Given the description of an element on the screen output the (x, y) to click on. 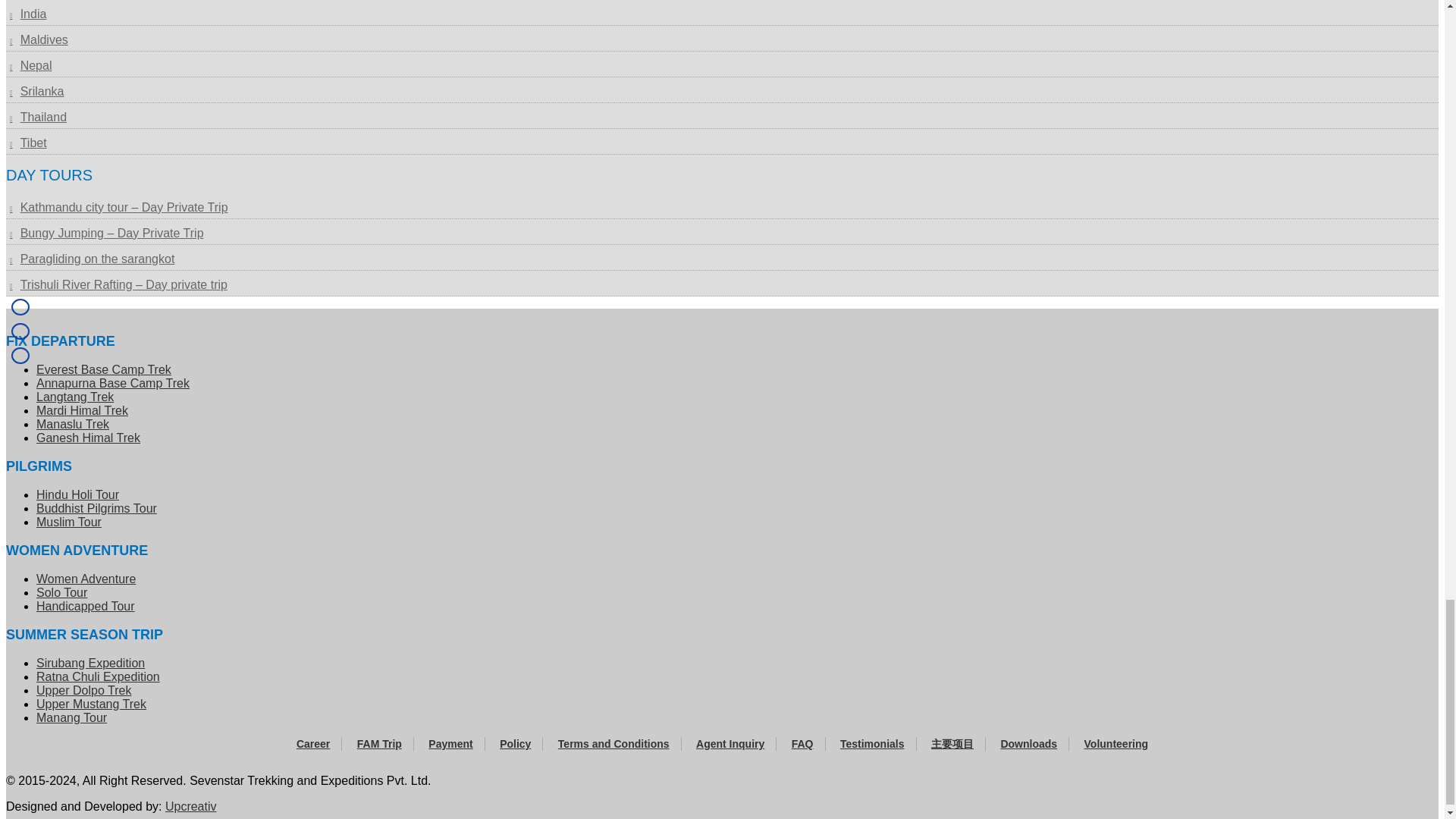
Webdesign and Development in Nepal (190, 806)
